Given the description of an element on the screen output the (x, y) to click on. 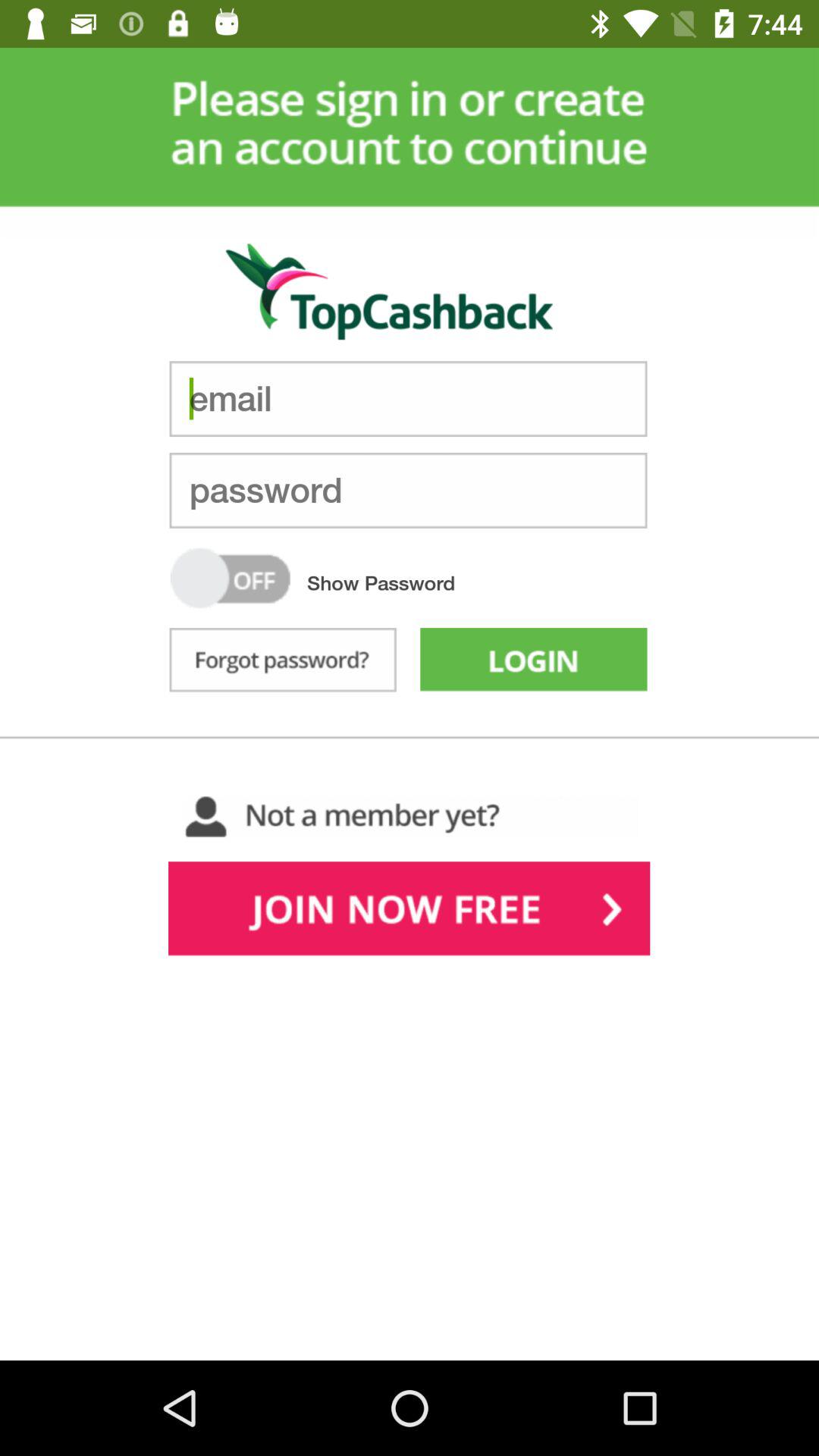
login (533, 662)
